Given the description of an element on the screen output the (x, y) to click on. 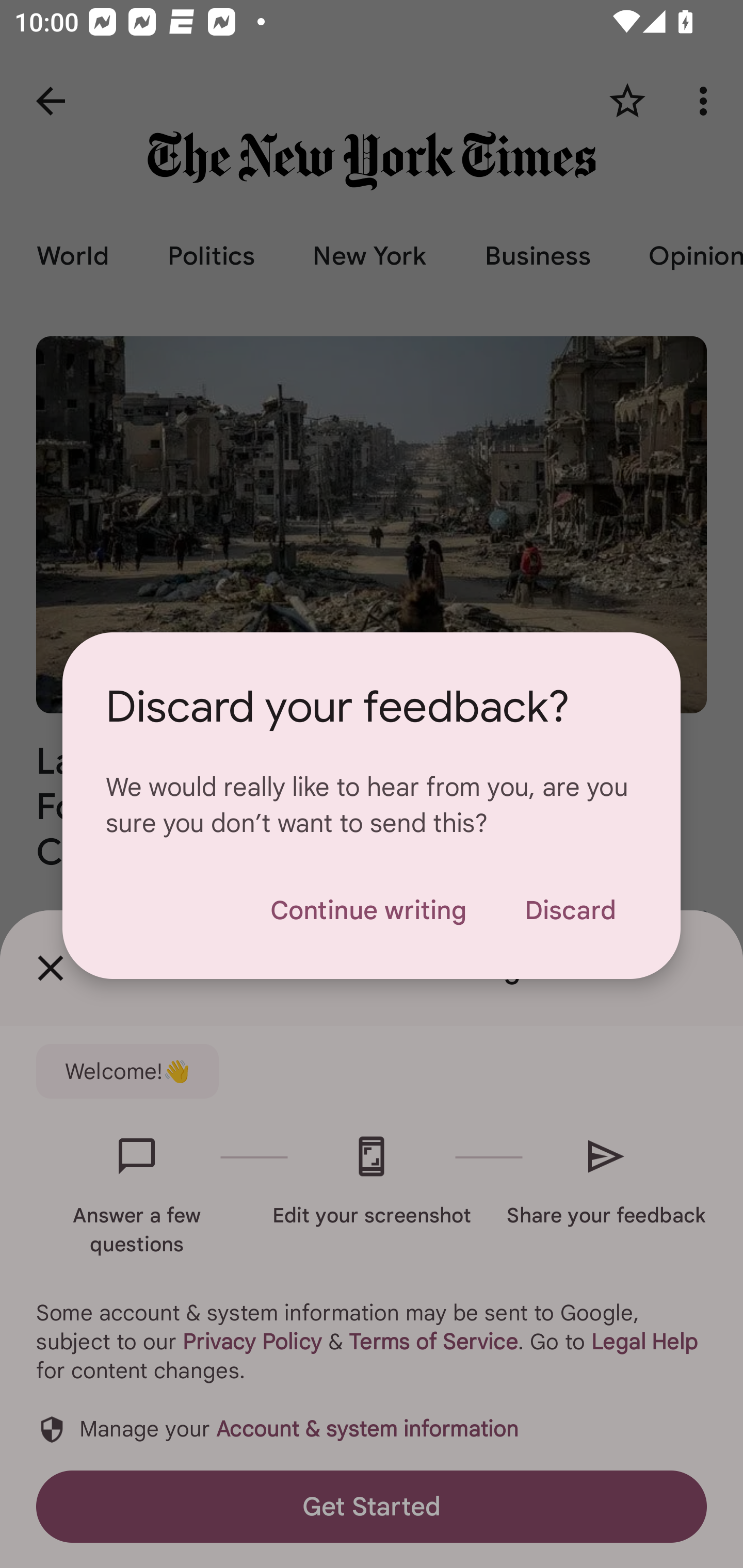
Continue writing (368, 910)
Discard (569, 910)
